Given the description of an element on the screen output the (x, y) to click on. 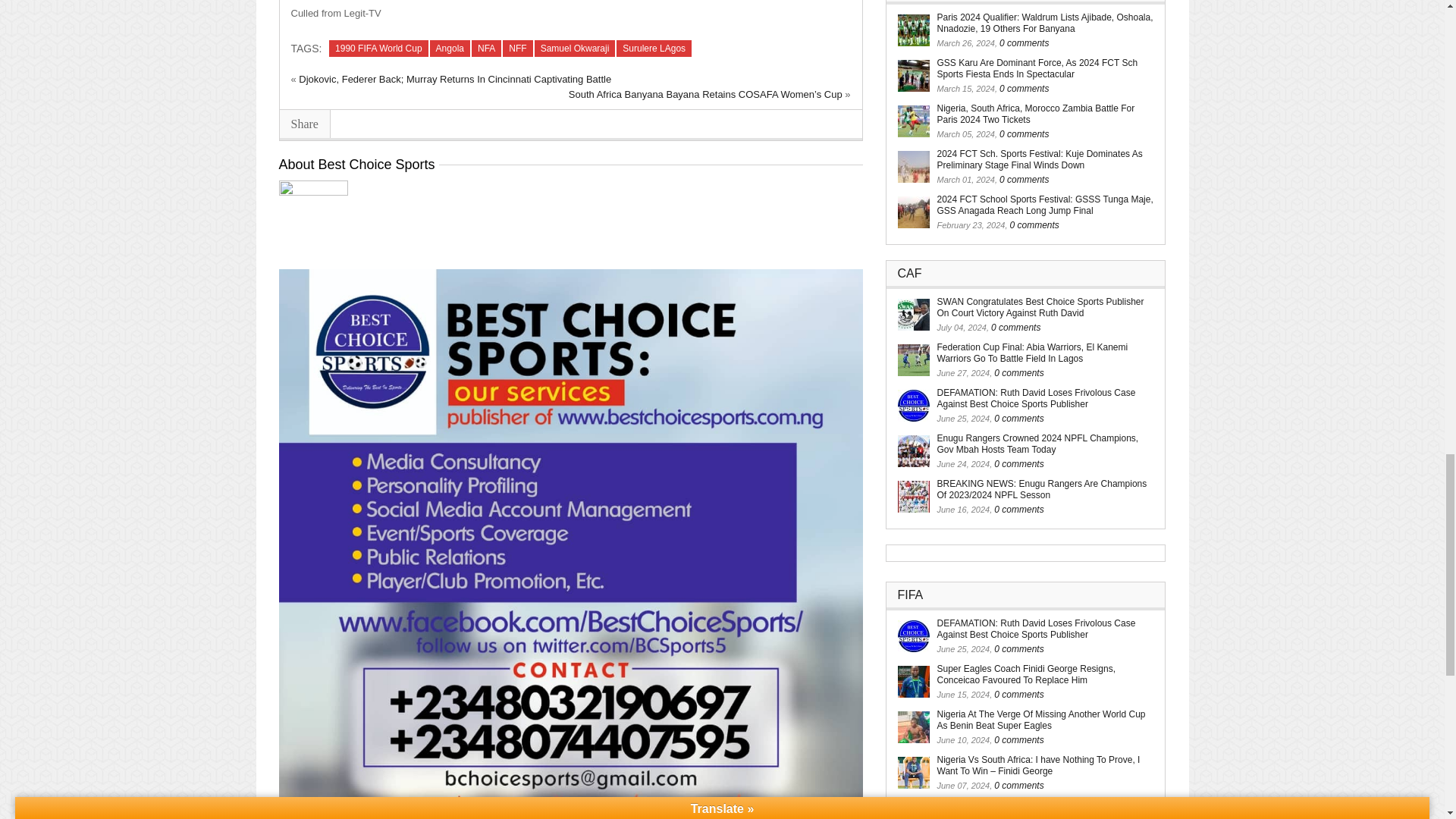
NFA (485, 48)
NFF (517, 48)
1990 FIFA World Cup (378, 48)
Surulere LAgos (653, 48)
Angola (449, 48)
Samuel Okwaraji (574, 48)
